Given the description of an element on the screen output the (x, y) to click on. 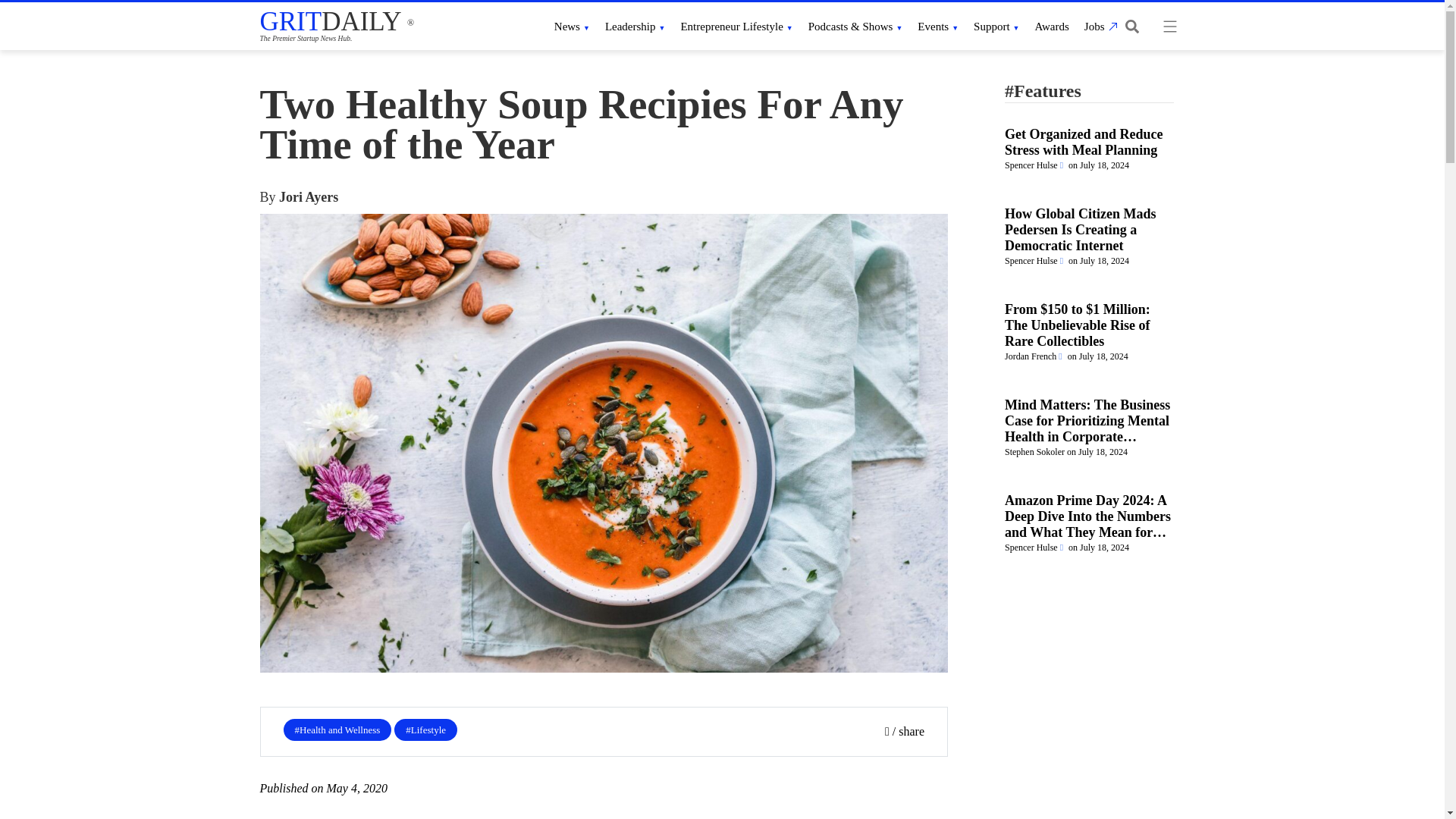
Events (937, 25)
Support (996, 25)
Awards (1051, 25)
News (571, 25)
Jobs (1098, 25)
Leadership (635, 25)
Entrepreneur Lifestyle (735, 25)
